Given the description of an element on the screen output the (x, y) to click on. 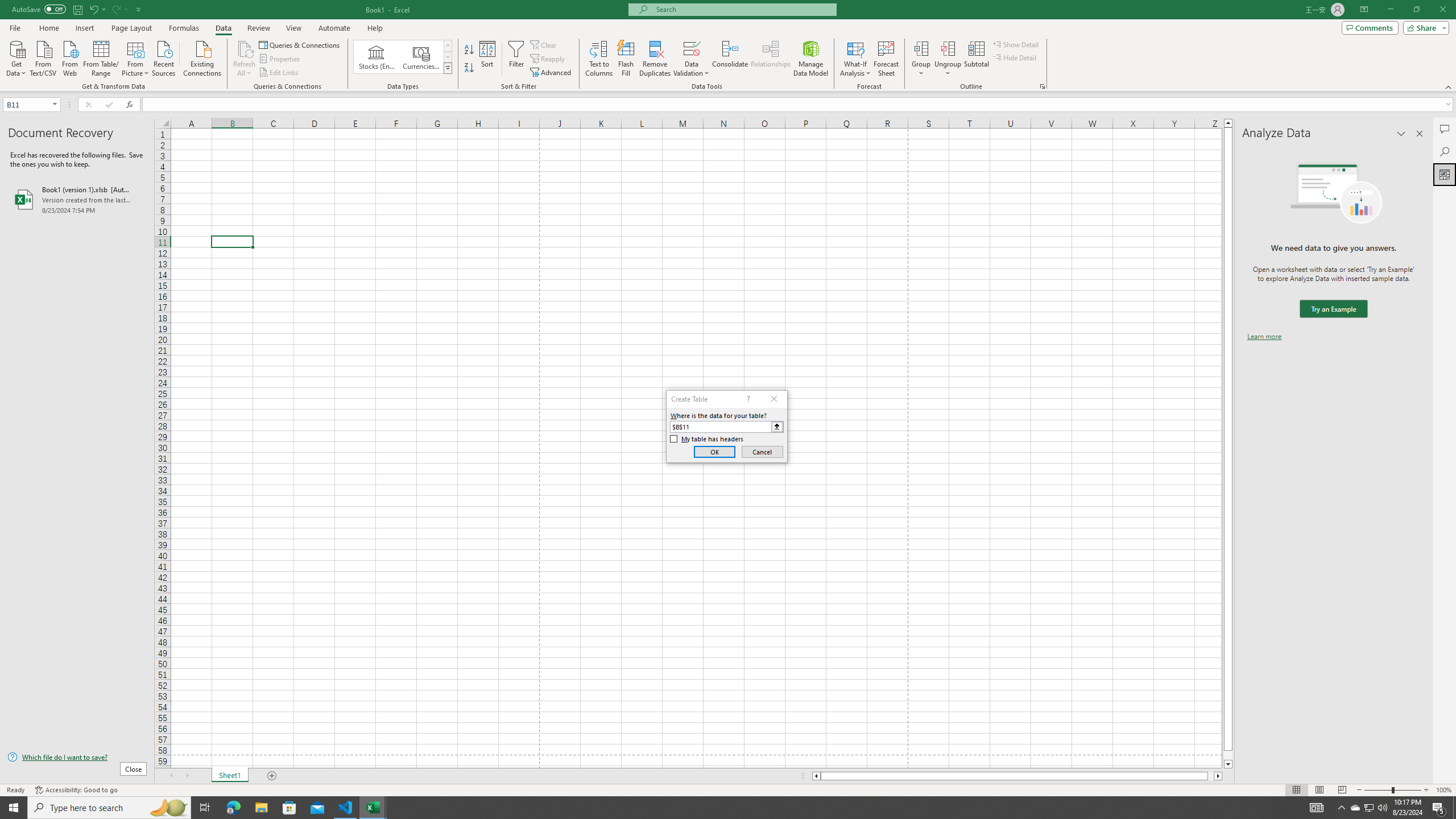
From Web (69, 57)
Queries & Connections (300, 44)
AutomationID: ConvertToLinkedEntity (403, 56)
Sort... (487, 58)
We need data to give you answers. Try an Example (1333, 308)
From Picture (135, 57)
Refresh All (244, 48)
Filter (515, 58)
Search (1444, 151)
